Given the description of an element on the screen output the (x, y) to click on. 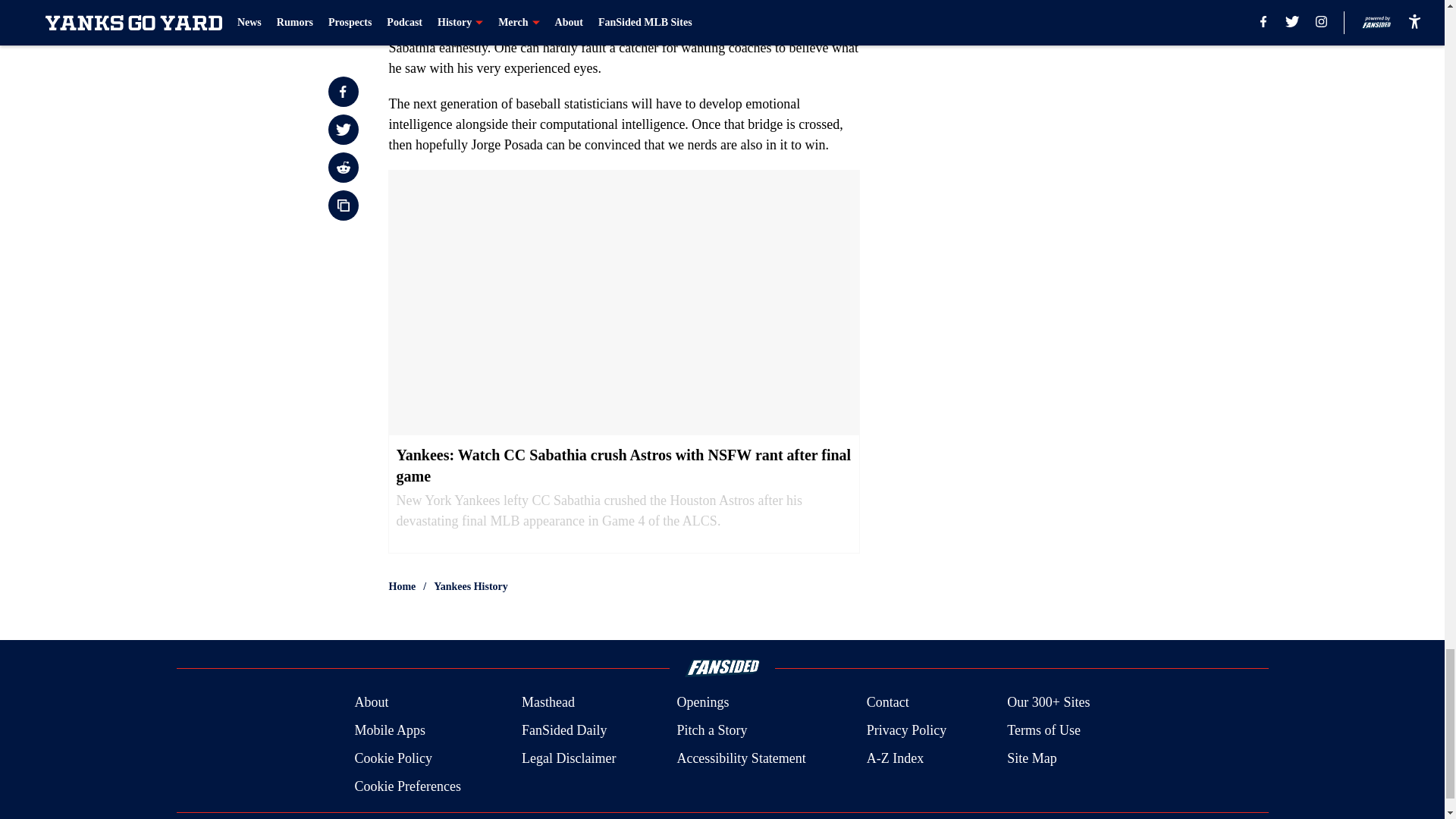
Yankees History (470, 586)
About (370, 702)
Home (401, 586)
Masthead (548, 702)
